Given the description of an element on the screen output the (x, y) to click on. 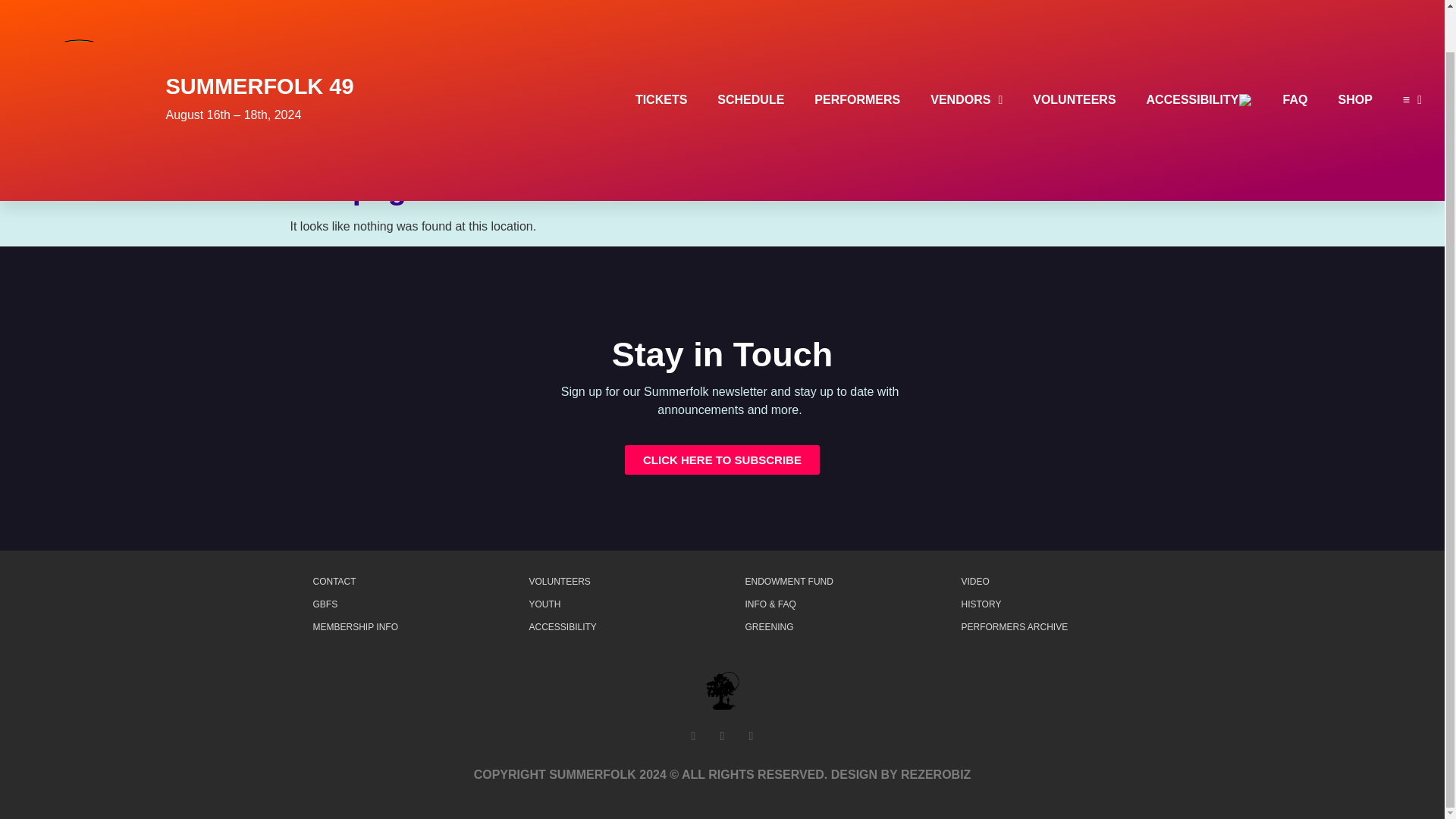
VOLUNTEERS (1074, 55)
SHOP (1354, 55)
ACCESSIBILITY (1199, 55)
SUMMERFOLK 49 (259, 42)
SCHEDULE (750, 55)
PERFORMERS (857, 55)
VENDORS (966, 55)
FAQ (1295, 55)
TICKETS (660, 55)
